Given the description of an element on the screen output the (x, y) to click on. 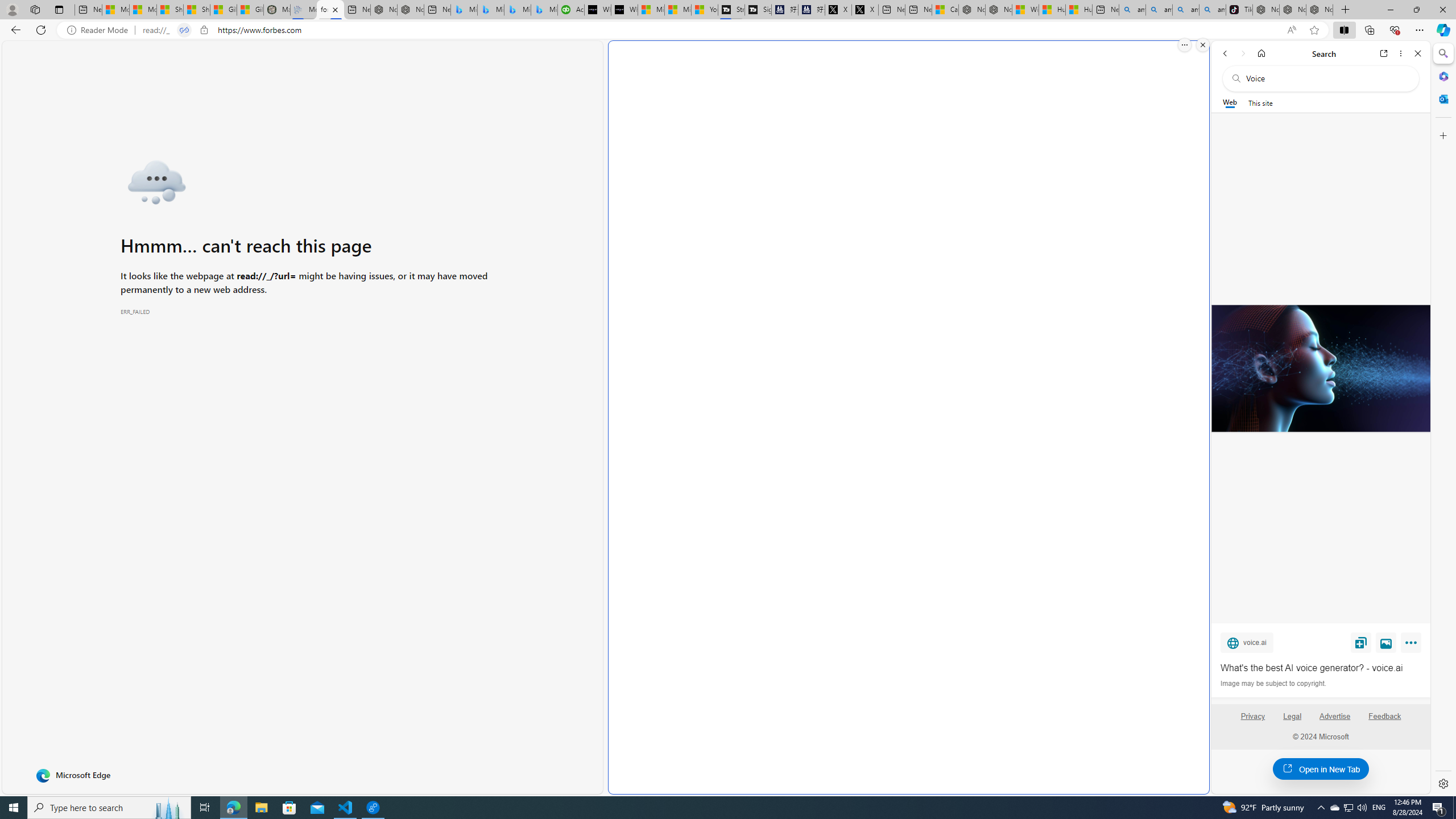
Microsoft Bing Travel - Stays in Bangkok, Bangkok, Thailand (491, 9)
Advertise (1335, 715)
Close split screen. (1202, 45)
App bar (728, 29)
Legal (1292, 720)
Save (1361, 642)
